Given the description of an element on the screen output the (x, y) to click on. 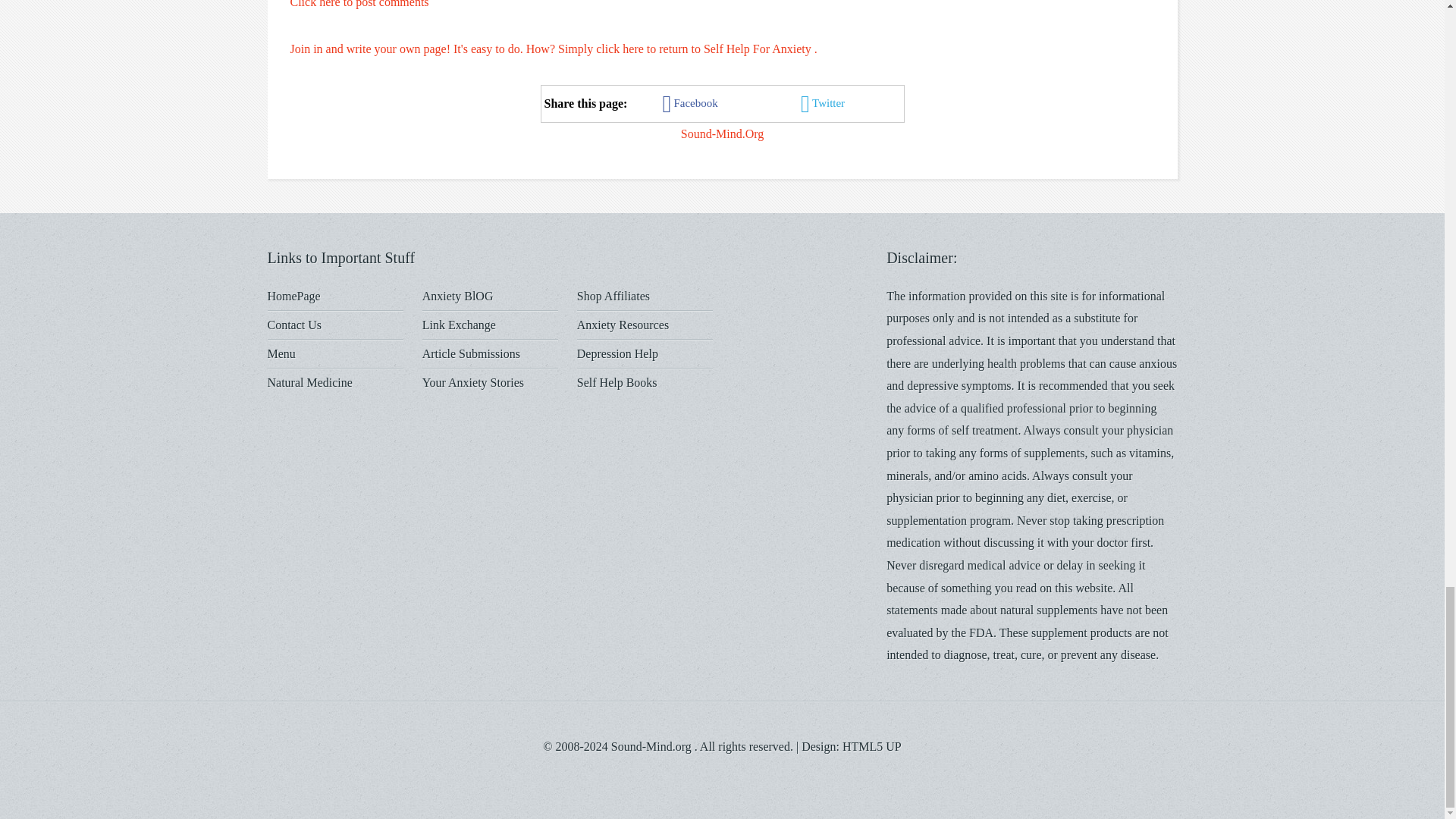
Sound-Mind.Org (722, 133)
HTML5 UP (872, 746)
Contact Us (293, 324)
Menu (280, 353)
Your Anxiety Stories (473, 382)
Natural Medicine (309, 382)
Click here to post comments (358, 4)
Self Help Books (617, 382)
Twitter (824, 101)
